Given the description of an element on the screen output the (x, y) to click on. 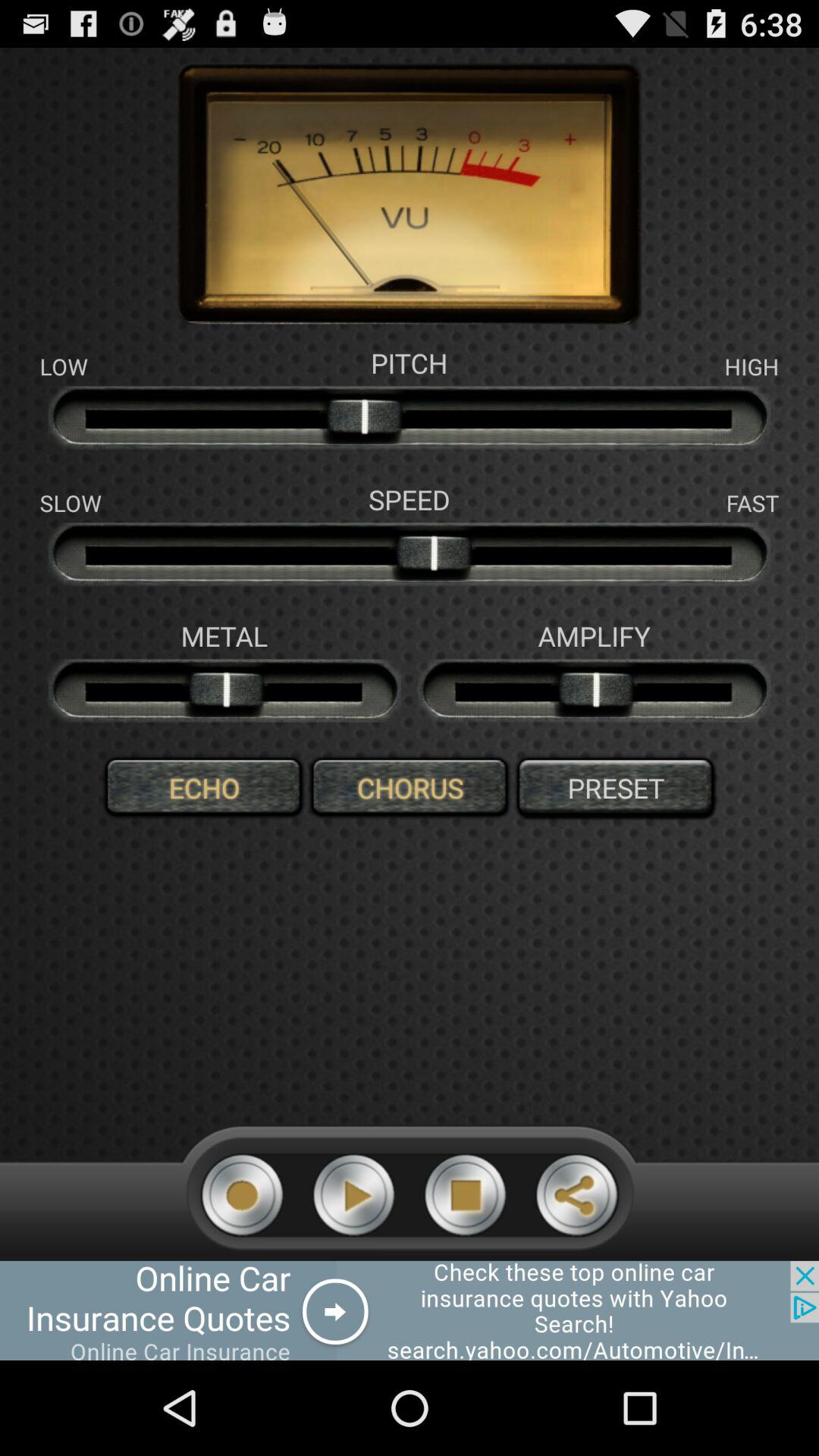
switch autoplay option (465, 1195)
